Given the description of an element on the screen output the (x, y) to click on. 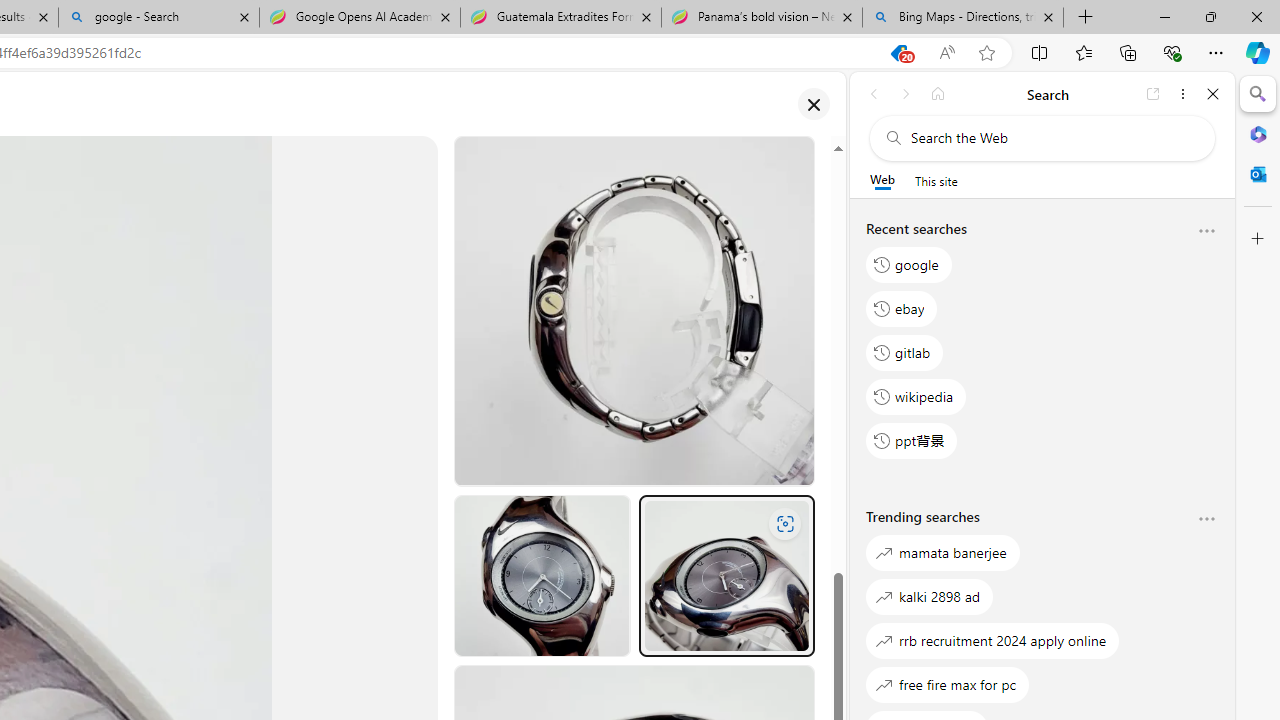
mamata banerjee (943, 552)
rrb recruitment 2024 apply online (993, 640)
wikipedia (916, 396)
kalki 2898 ad (930, 596)
Close image gallery dialog (813, 103)
Google Opens AI Academy for Startups - Nearshore Americas (359, 17)
